Given the description of an element on the screen output the (x, y) to click on. 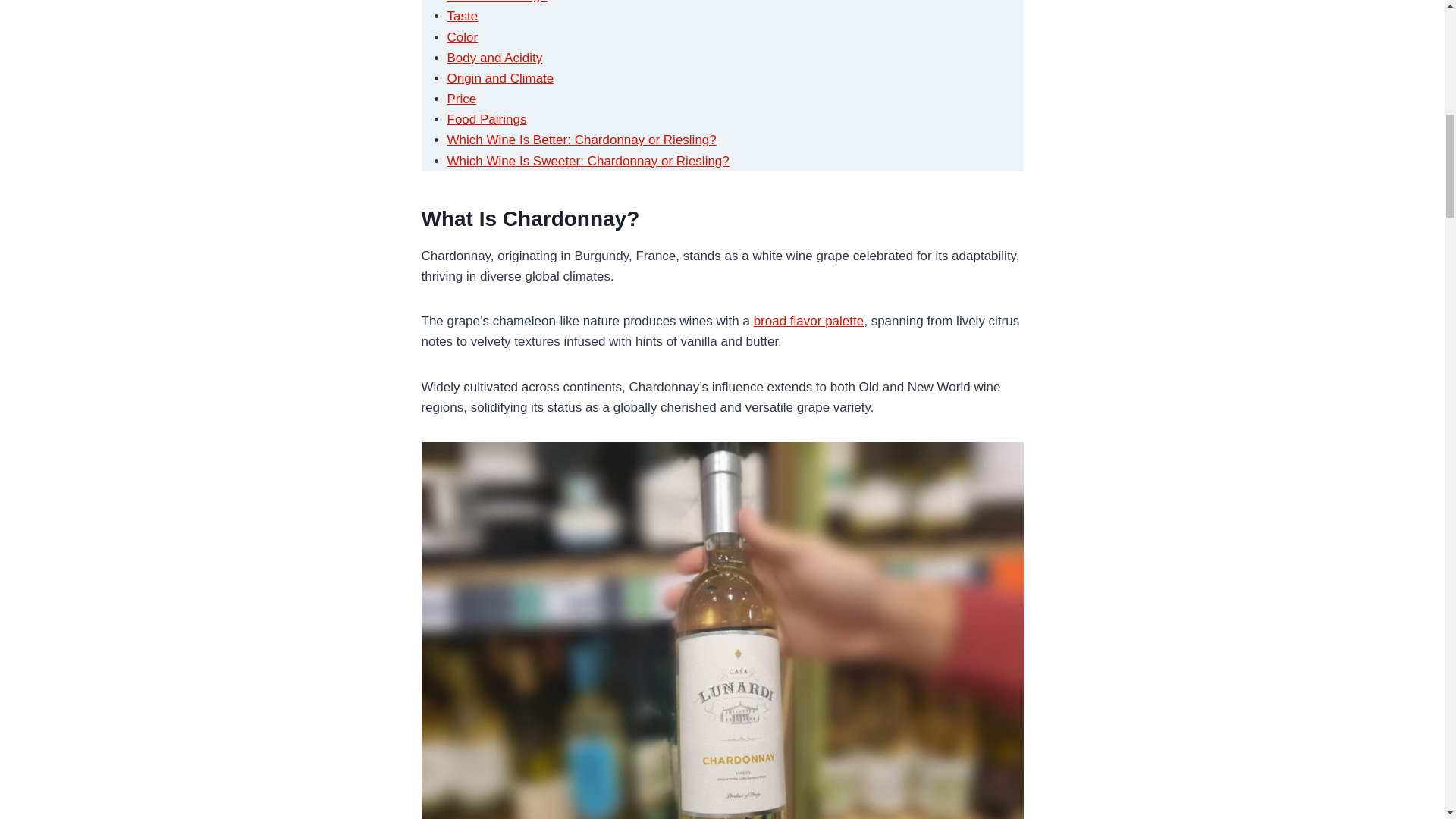
Which Wine Is Sweeter: Chardonnay or Riesling? (587, 160)
What Is Riesling? (496, 1)
Food Pairings (486, 119)
Origin and Climate (500, 78)
broad flavor palette (809, 320)
Taste (462, 16)
Body and Acidity (494, 57)
Price (461, 98)
Color (462, 37)
Which Wine Is Better: Chardonnay or Riesling? (581, 139)
